Given the description of an element on the screen output the (x, y) to click on. 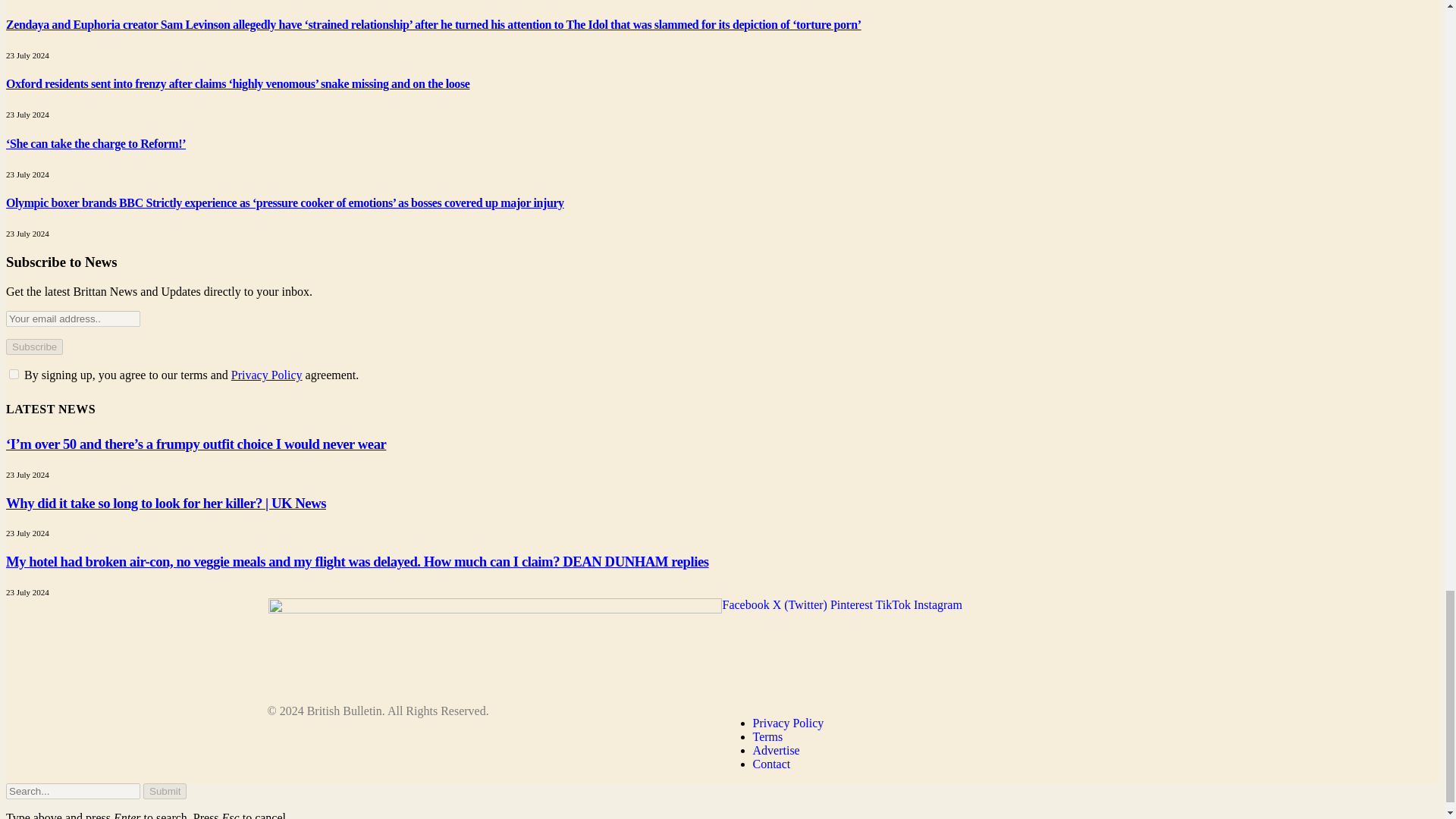
Subscribe (33, 346)
on (13, 374)
